Given the description of an element on the screen output the (x, y) to click on. 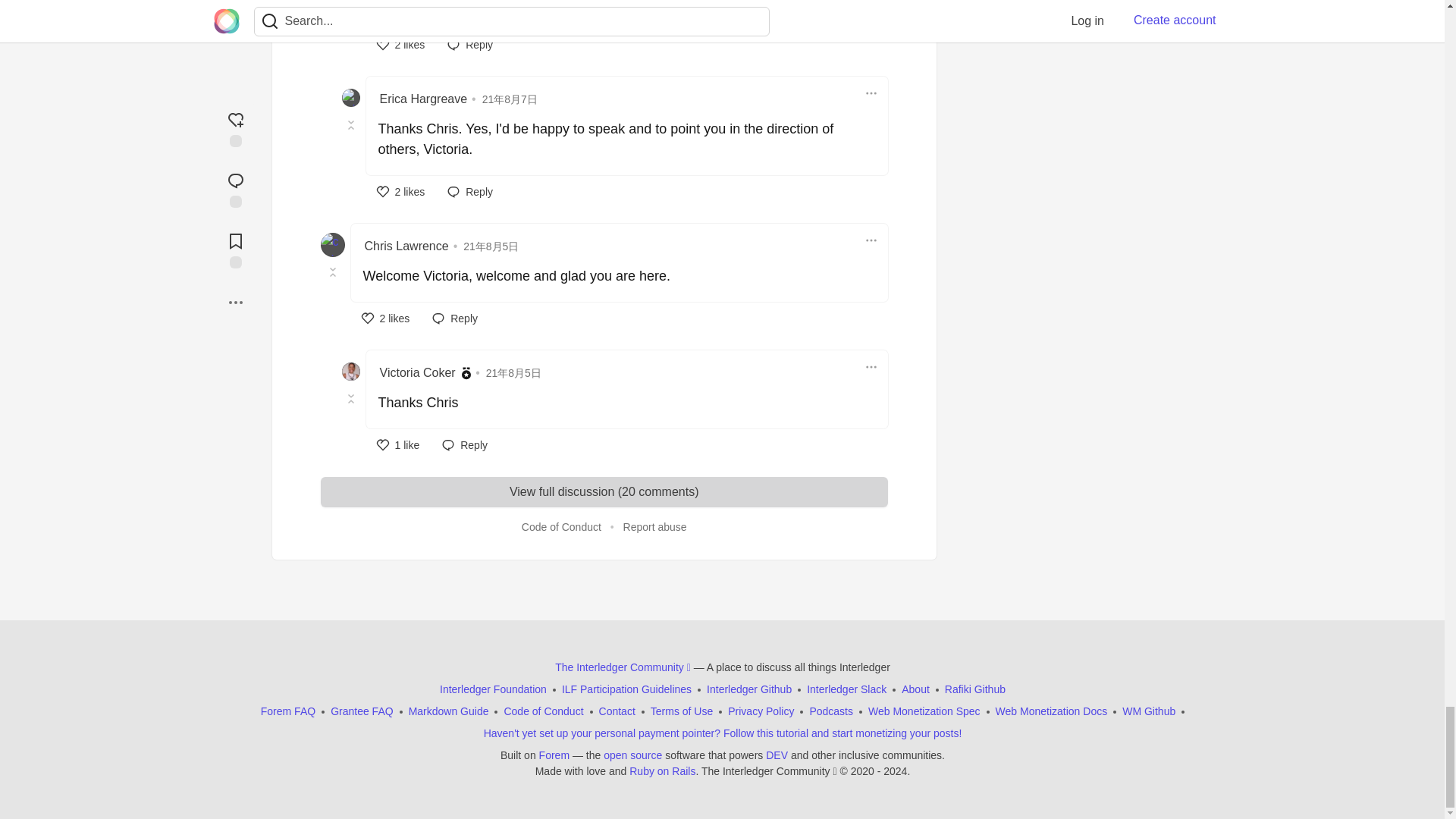
copyright (843, 770)
